Given the description of an element on the screen output the (x, y) to click on. 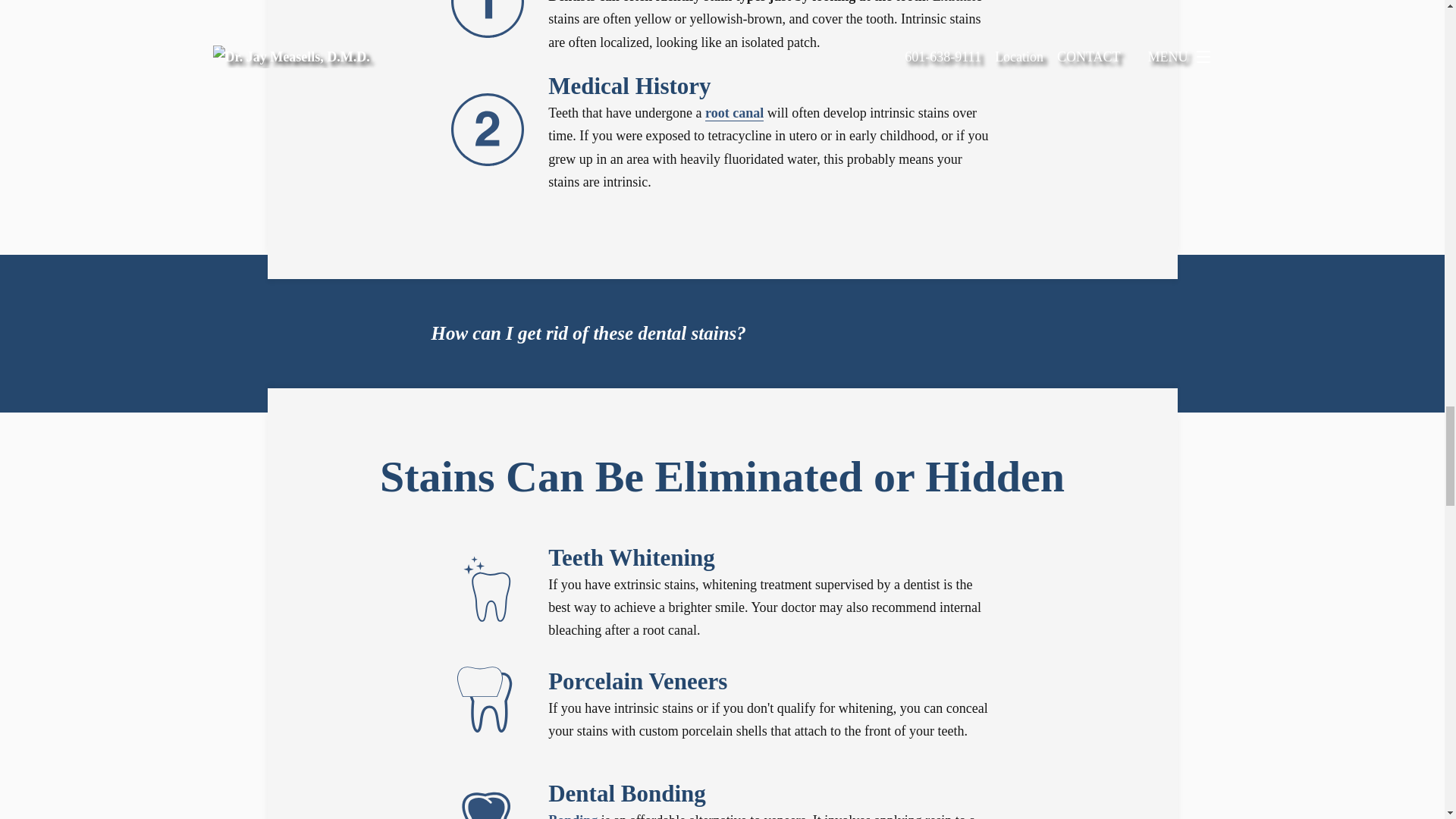
root canal (733, 113)
Bonding (572, 816)
dental-veneers (487, 701)
